Given the description of an element on the screen output the (x, y) to click on. 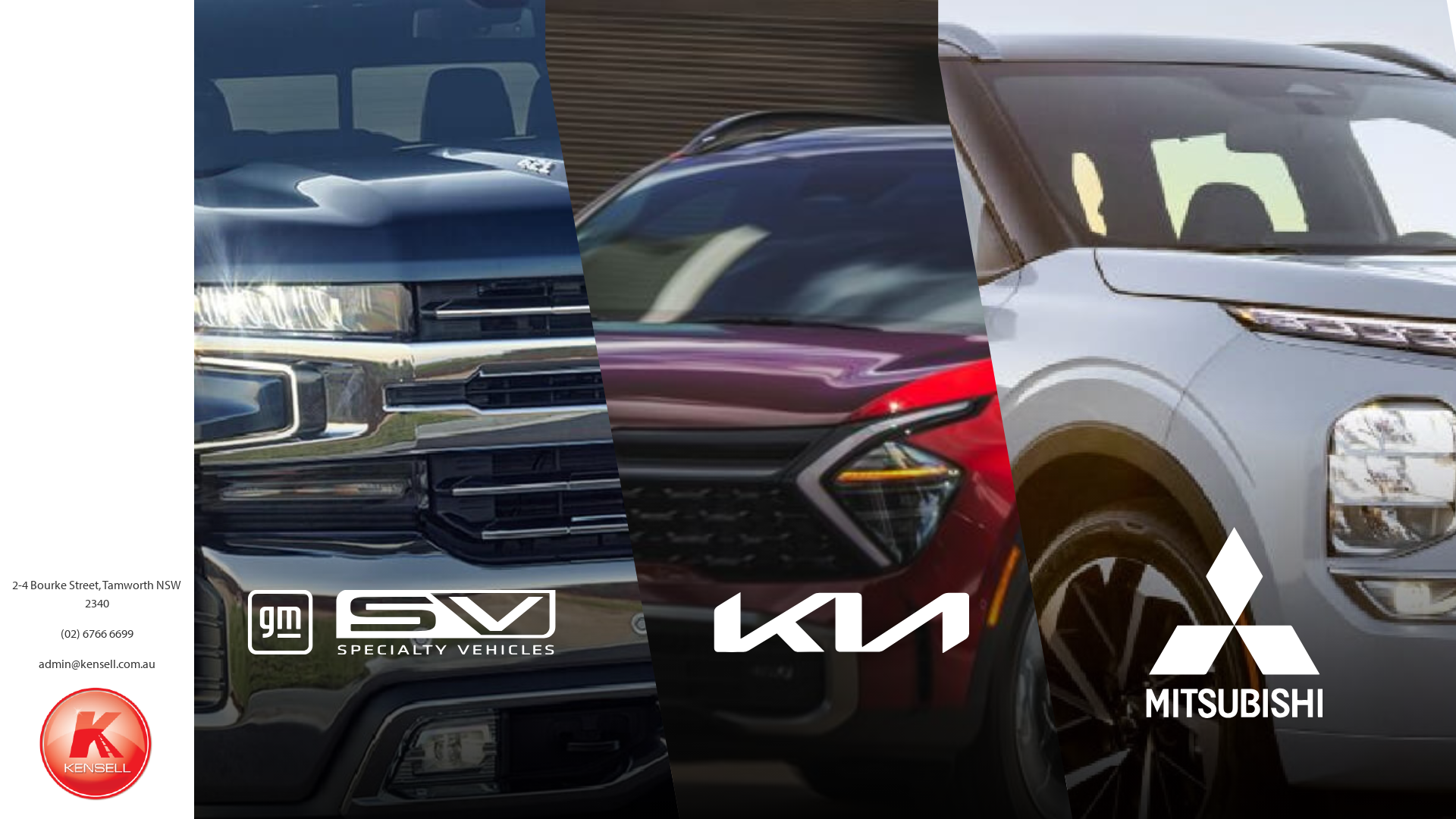
(02) 6766 6699 Element type: text (96, 632)
admin@kensell.com.au Element type: text (96, 663)
